Given the description of an element on the screen output the (x, y) to click on. 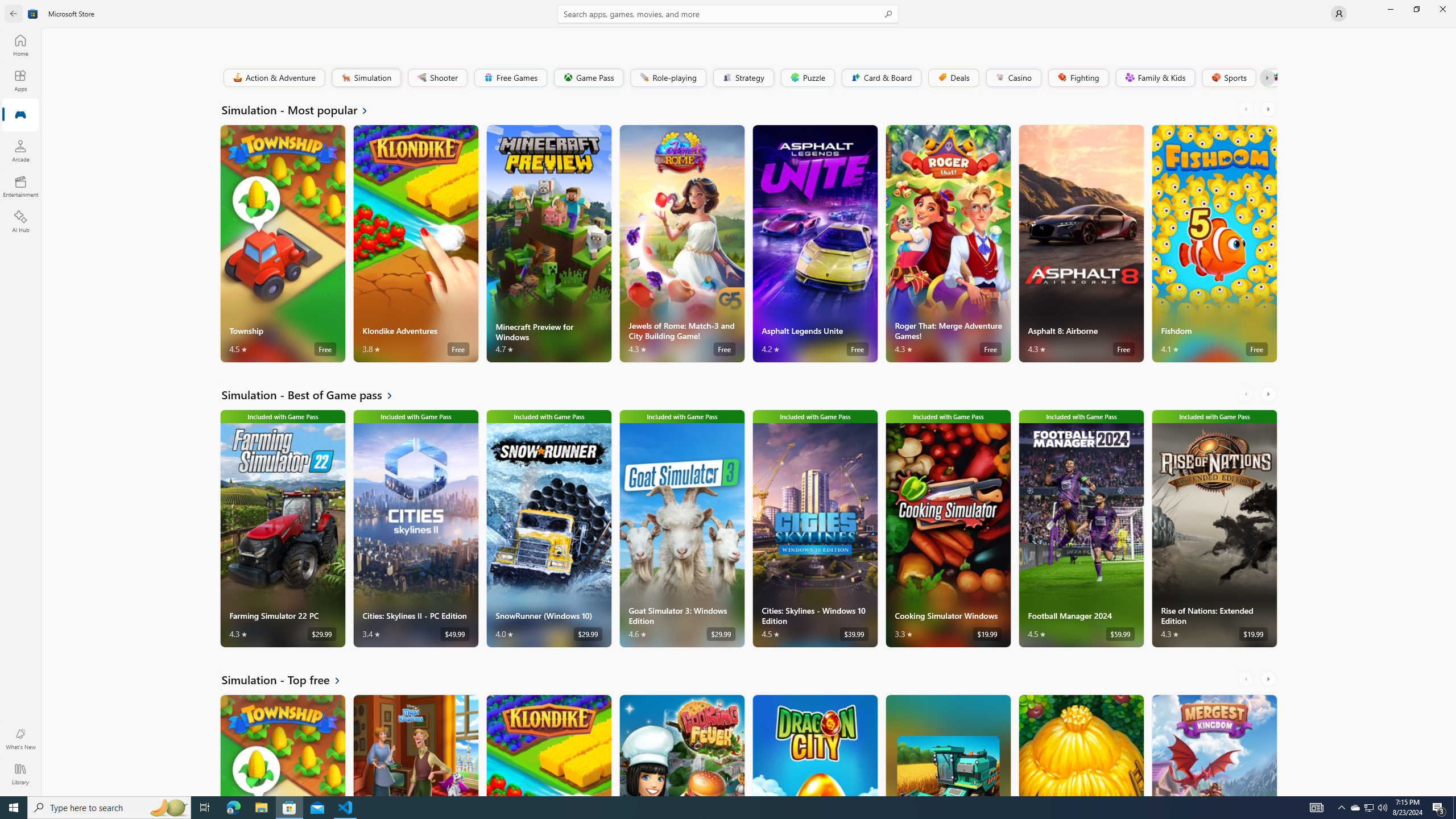
AI Hub (20, 221)
Library (20, 773)
AutomationID: NavigationControl (728, 398)
Card & Board (880, 77)
Deals (952, 77)
Family & Kids (1154, 77)
Action & Adventure (273, 77)
Home (20, 45)
Close Microsoft Store (1442, 9)
